Given the description of an element on the screen output the (x, y) to click on. 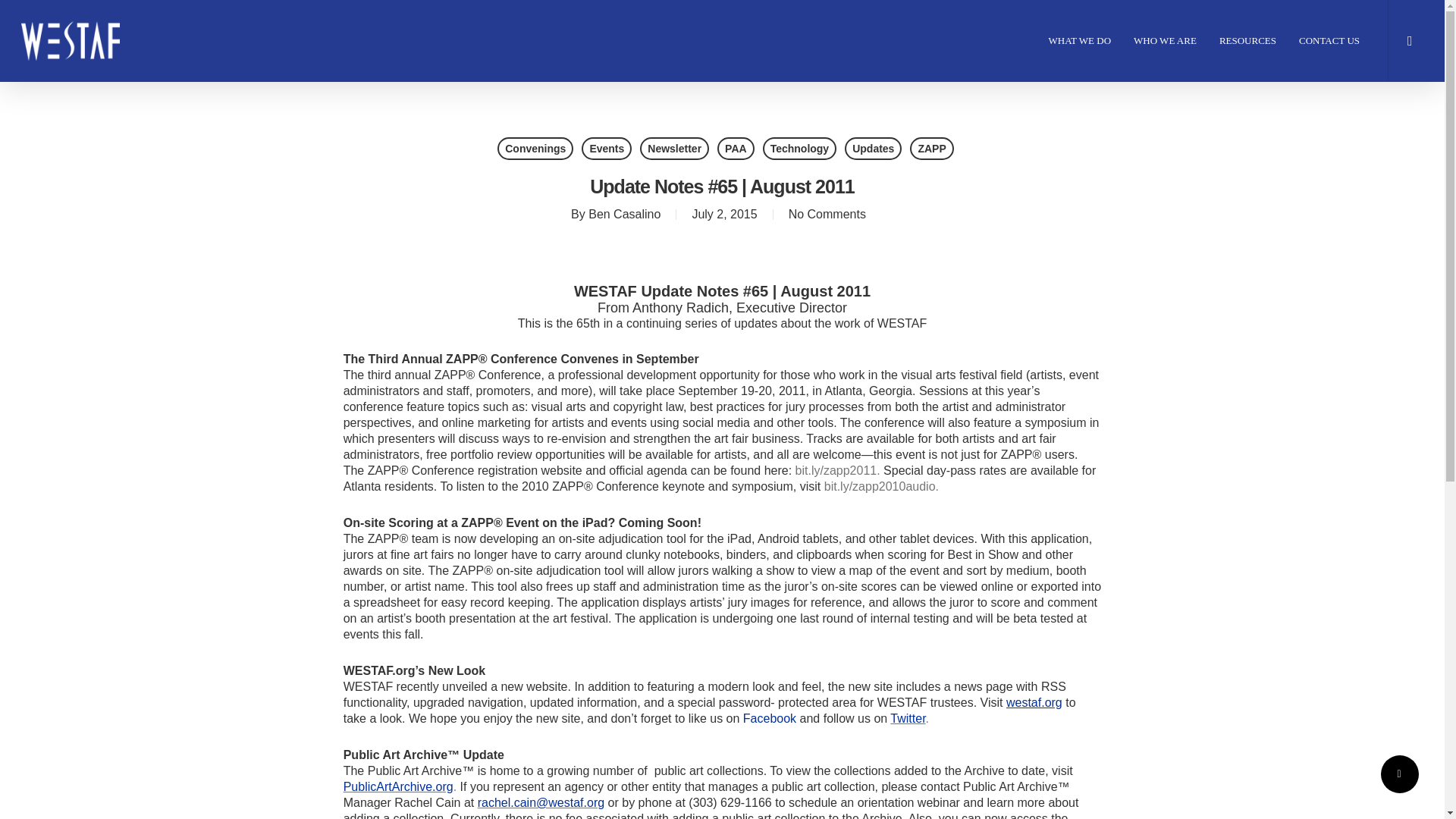
PAA (735, 148)
westaf.org (1034, 702)
RESOURCES (1247, 40)
Facebook (769, 717)
PublicArtArchive.org (397, 786)
CONTACT US (1329, 40)
Events (605, 148)
Ben Casalino (624, 214)
No Comments (827, 214)
Updates (872, 148)
Posts by Ben Casalino (624, 214)
WHO WE ARE (1165, 40)
WHAT WE DO (1079, 40)
Technology (799, 148)
Convenings (535, 148)
